Given the description of an element on the screen output the (x, y) to click on. 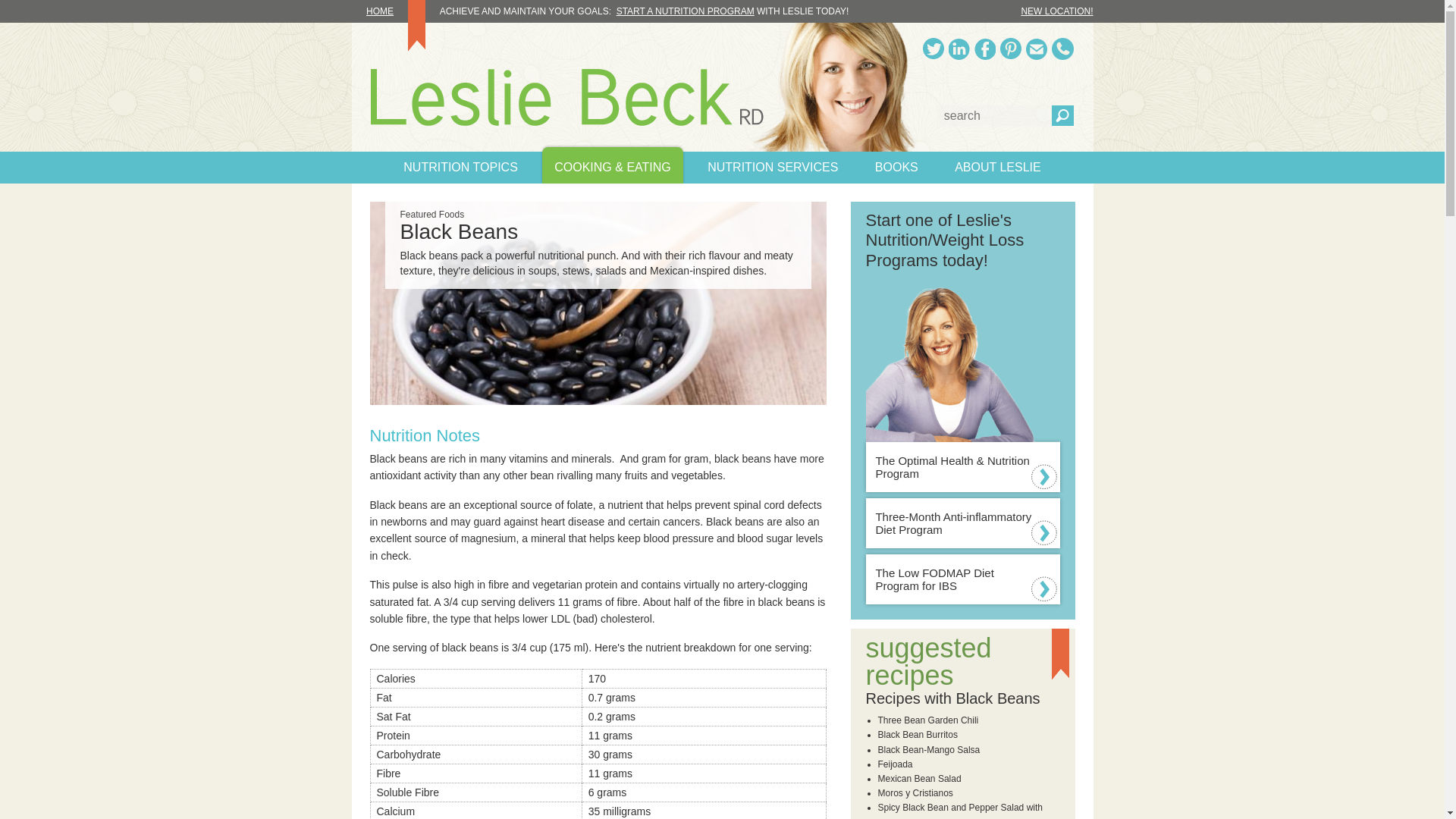
Email (1036, 48)
BOOKS (896, 167)
Featured Foods (432, 214)
Three-Month Anti-inflammatory Diet Program (962, 522)
HOME (389, 10)
Three Bean Garden Chili (927, 719)
ABOUT LESLIE (997, 167)
Black Bean-Mango Salsa (928, 749)
NEW LOCATION! (1056, 10)
Pinterest (1011, 48)
Skip to content (19, 19)
The Low FODMAP Diet Program for IBS (962, 579)
Phone (1062, 48)
NUTRITION SERVICES (772, 167)
Search (1062, 115)
